Given the description of an element on the screen output the (x, y) to click on. 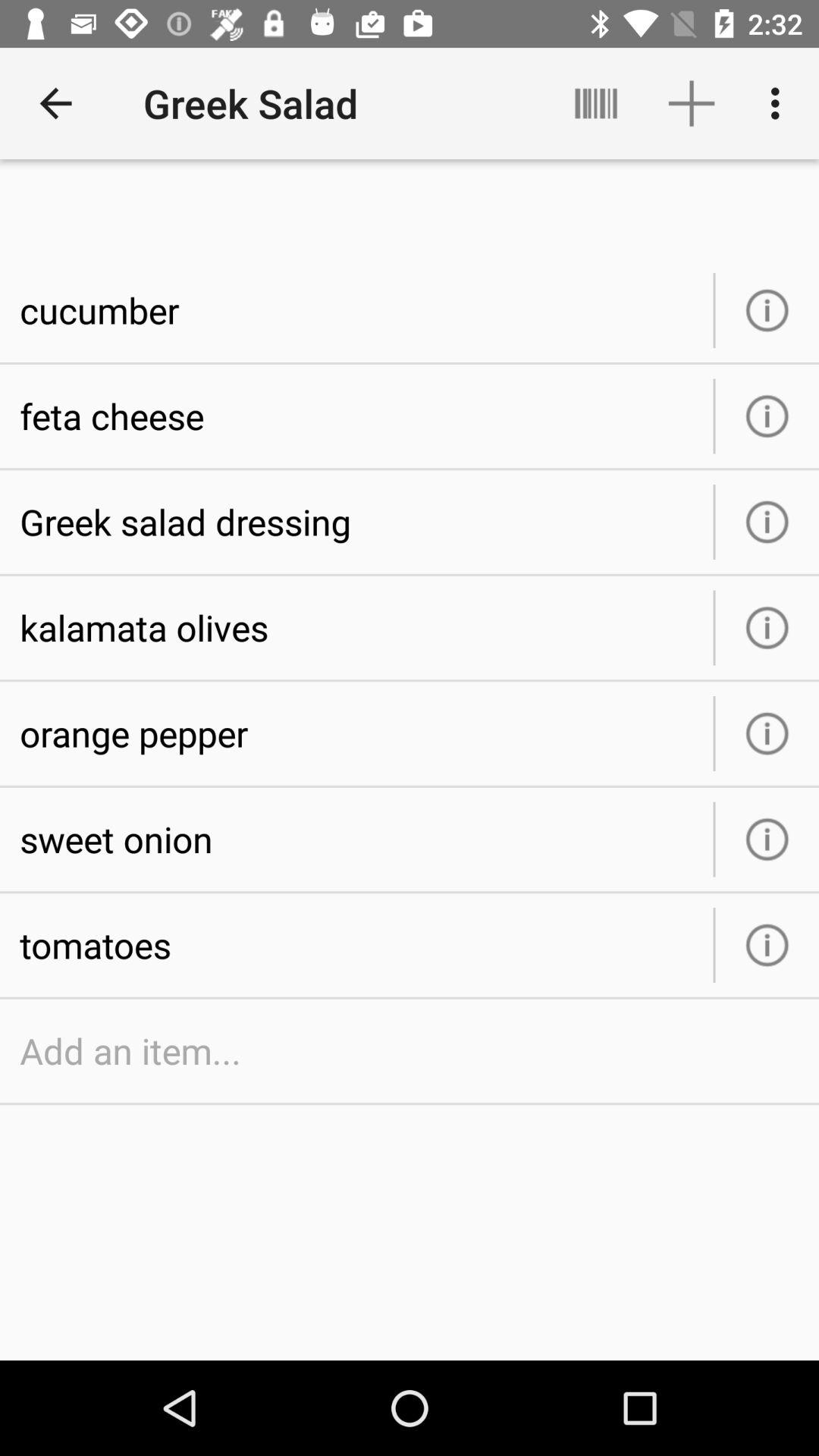
press the icon above cucumber icon (55, 103)
